Given the description of an element on the screen output the (x, y) to click on. 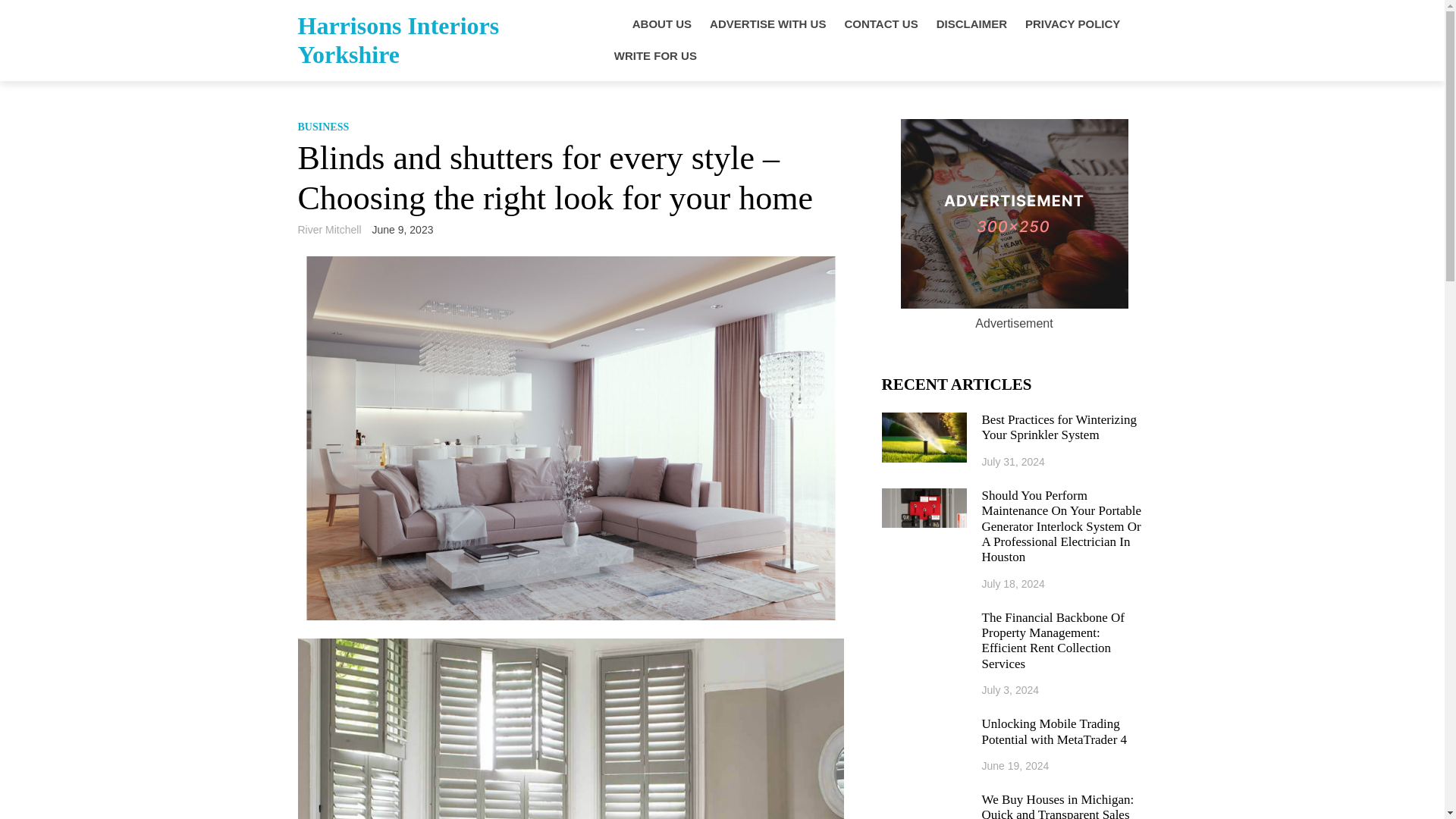
July 3, 2024 (1010, 689)
CONTACT US (880, 24)
July 18, 2024 (1013, 583)
Unlocking Mobile Trading Potential with MetaTrader 4 (1064, 731)
July 31, 2024 (1013, 461)
ADVERTISE WITH US (767, 24)
June 19, 2024 (1015, 766)
Harrisons Interiors Yorkshire (398, 39)
